Given the description of an element on the screen output the (x, y) to click on. 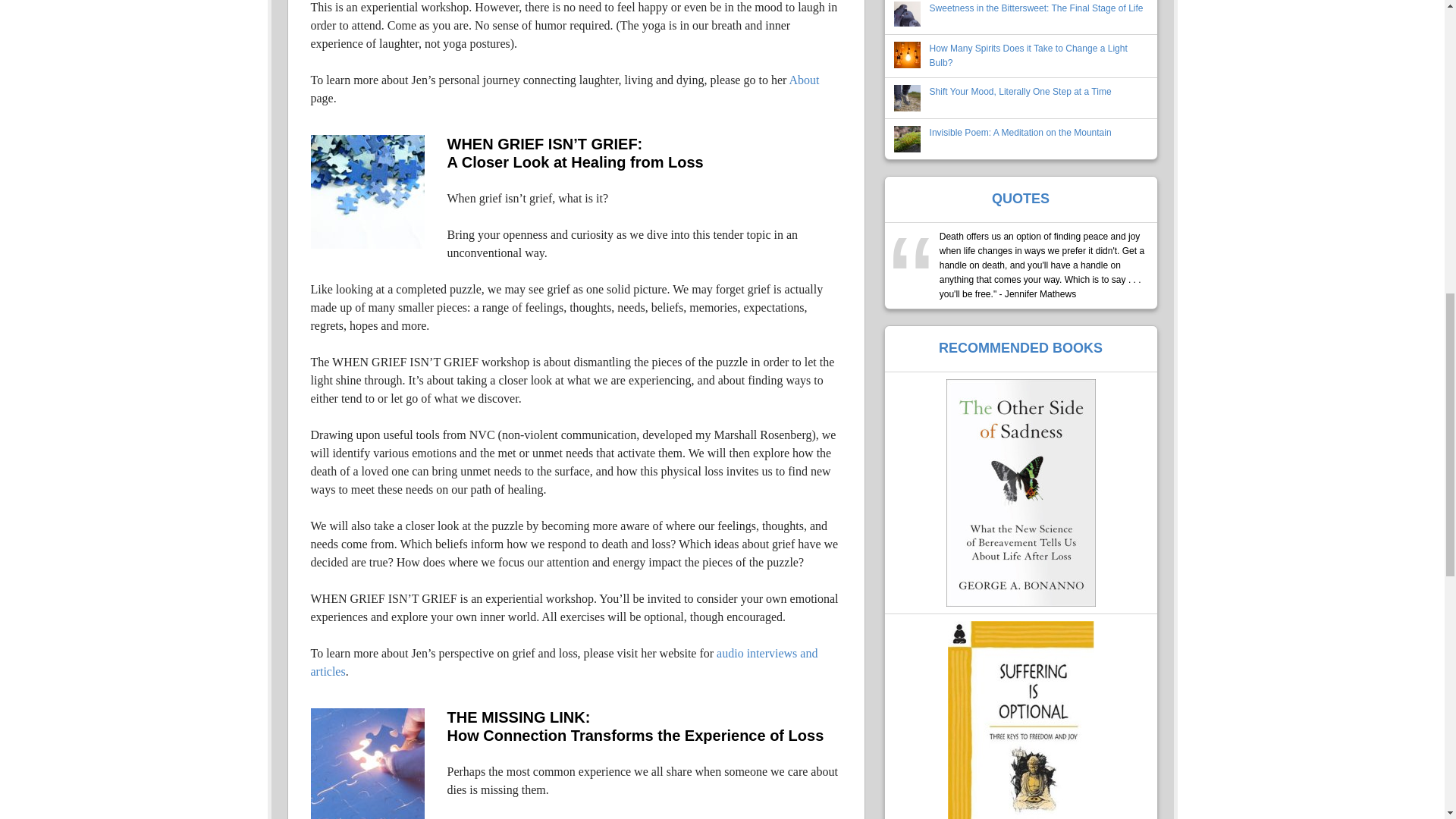
Invisible Poem: A Meditation on the Mountain (1021, 132)
About (803, 79)
Sweetness in the Bittersweet: The Final Stage of Life (1036, 8)
audio interviews and articles (564, 662)
How Many Spirits Does it Take to Change a Light Bulb? (1028, 55)
Shift Your Mood, Literally One Step at a Time (1021, 91)
Invisible Poem: A Meditation on the Mountain (1021, 132)
Sweetness in the Bittersweet: The Final Stage of Life (1036, 8)
Shift Your Mood, Literally One Step at a Time (1021, 91)
How Many Spirits Does it Take to Change a Light Bulb? (1028, 55)
